Given the description of an element on the screen output the (x, y) to click on. 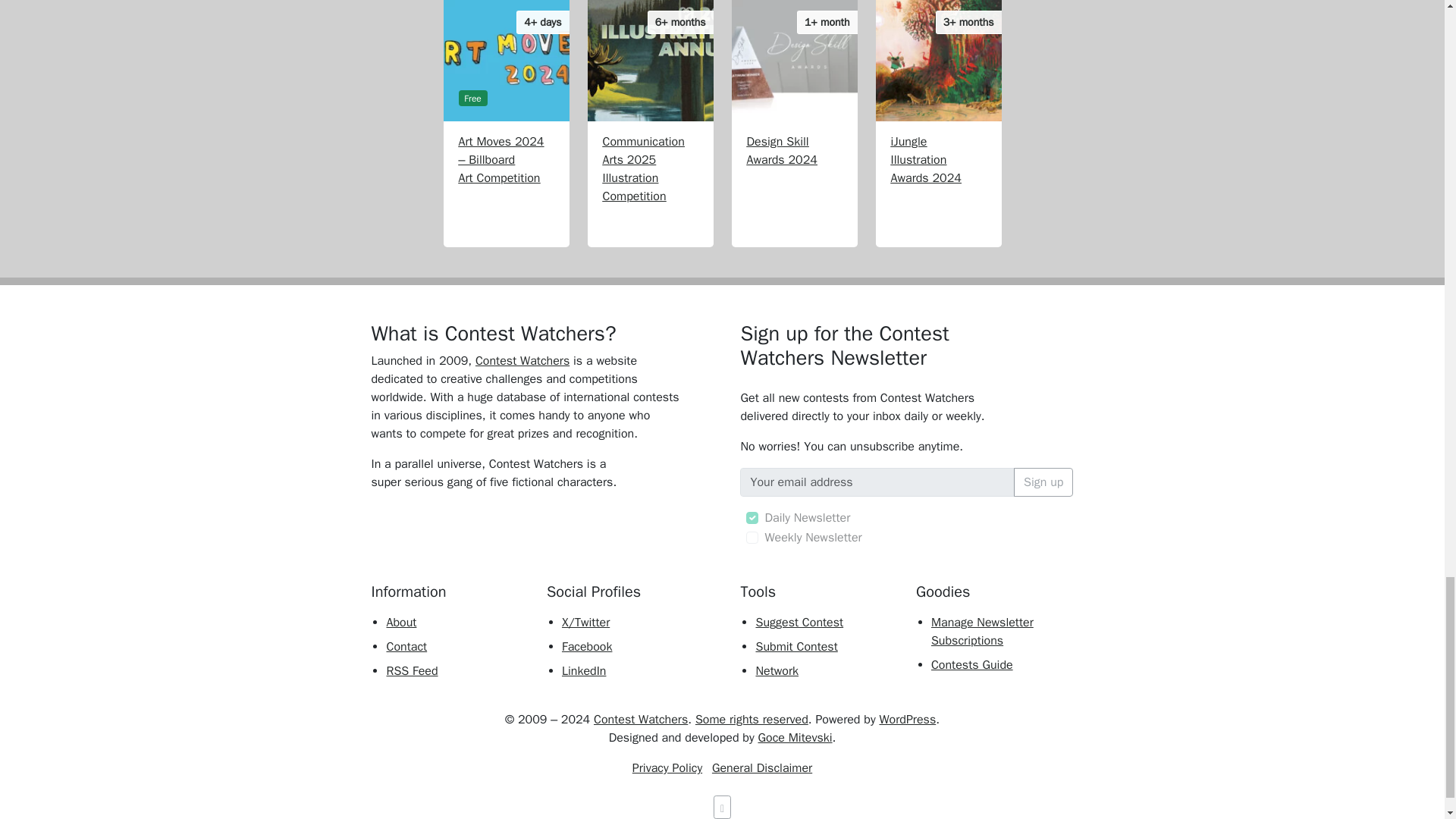
signup (751, 517)
signup (751, 537)
